Given the description of an element on the screen output the (x, y) to click on. 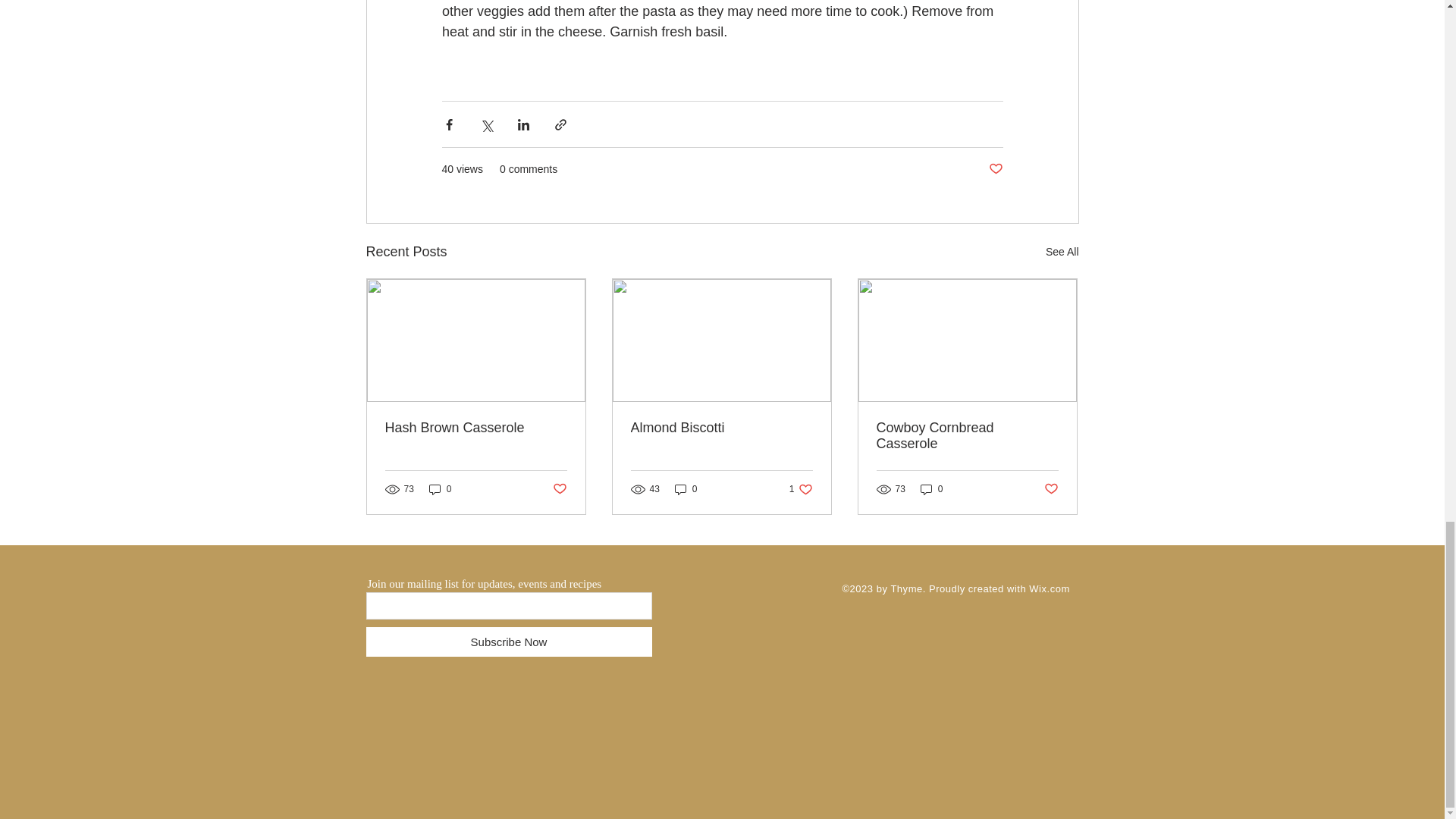
0 (440, 488)
Cowboy Cornbread Casserole (967, 436)
0 (931, 488)
0 (685, 488)
Hash Brown Casserole (476, 427)
See All (1061, 251)
Subscribe Now (507, 641)
Wix.com (1048, 588)
Post not marked as liked (1050, 489)
